Given the description of an element on the screen output the (x, y) to click on. 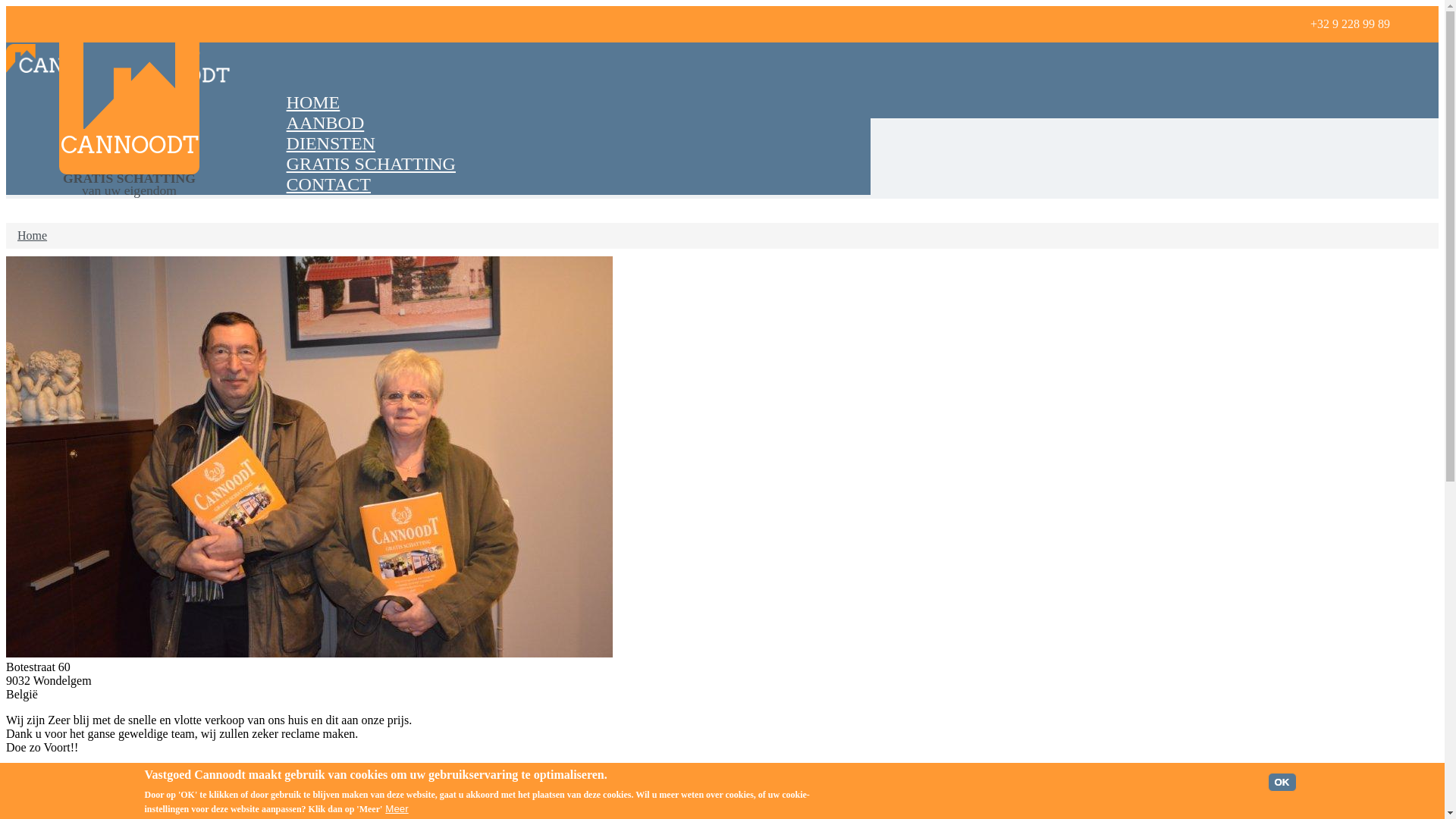
CANNOODT Element type: text (129, 145)
HOME Element type: text (313, 101)
Home Element type: hover (72, 77)
+32 9 228 99 89 Element type: text (1350, 23)
OK Element type: text (1281, 781)
CONTACT Element type: text (328, 183)
Home Element type: hover (163, 87)
Overslaan en naar de inhoud gaan Element type: text (6, 6)
INSCHRIJVEN Element type: text (1338, 809)
GRATIS SCHATTING Element type: text (371, 163)
Meer Element type: text (396, 808)
DIENSTEN Element type: text (330, 142)
Home Element type: hover (128, 124)
Navigatie wisselen Element type: text (194, 52)
Home Element type: text (32, 235)
AANBOD Element type: text (325, 122)
